Given the description of an element on the screen output the (x, y) to click on. 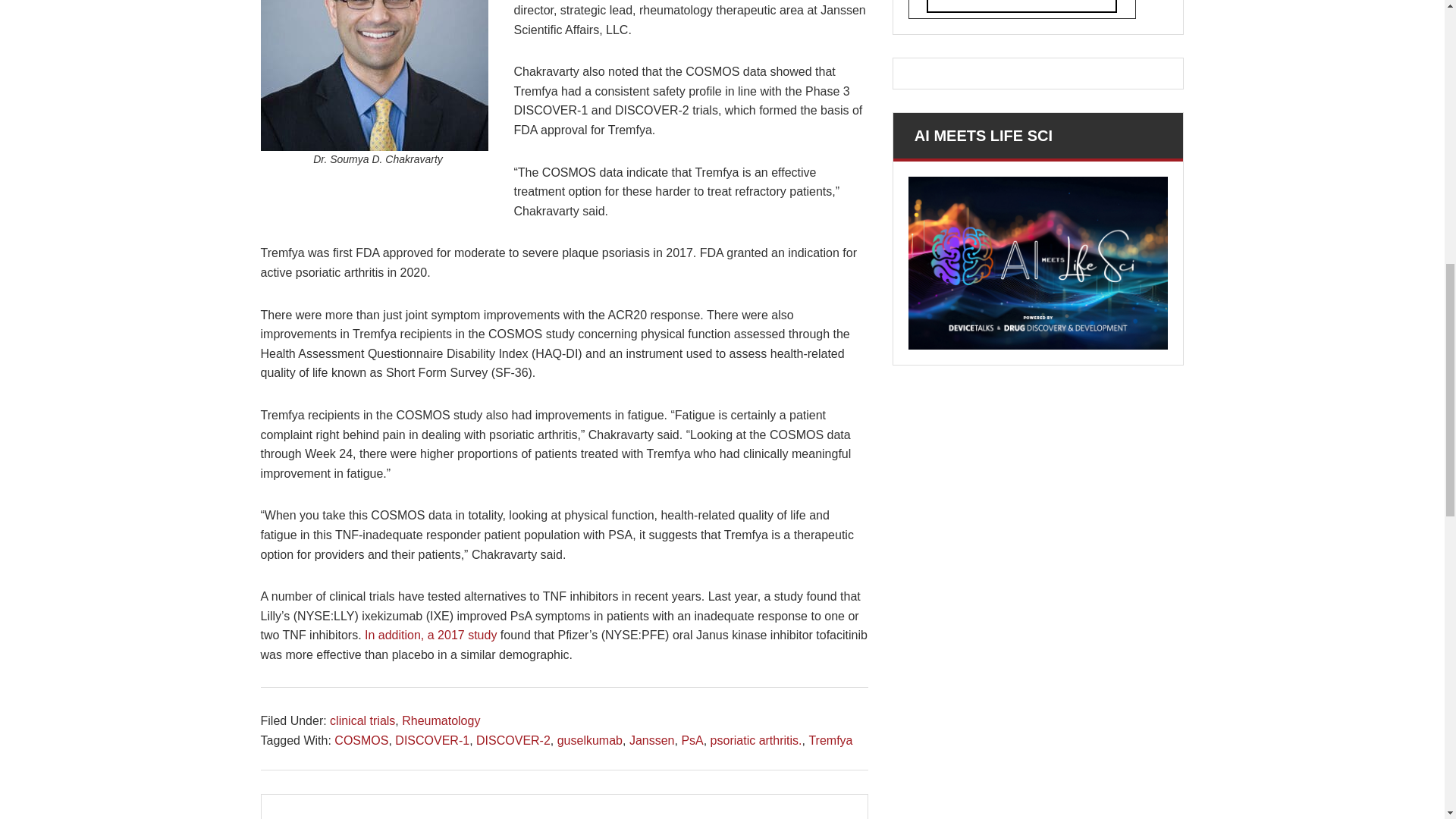
psoriatic arthritis. (756, 739)
Rheumatology (440, 720)
COSMOS (361, 739)
Janssen (651, 739)
In addition, a 2017 study (430, 634)
guselkumab (590, 739)
clinical trials (362, 720)
DISCOVER-1 (431, 739)
DISCOVER-2 (513, 739)
Tremfya (829, 739)
